Given the description of an element on the screen output the (x, y) to click on. 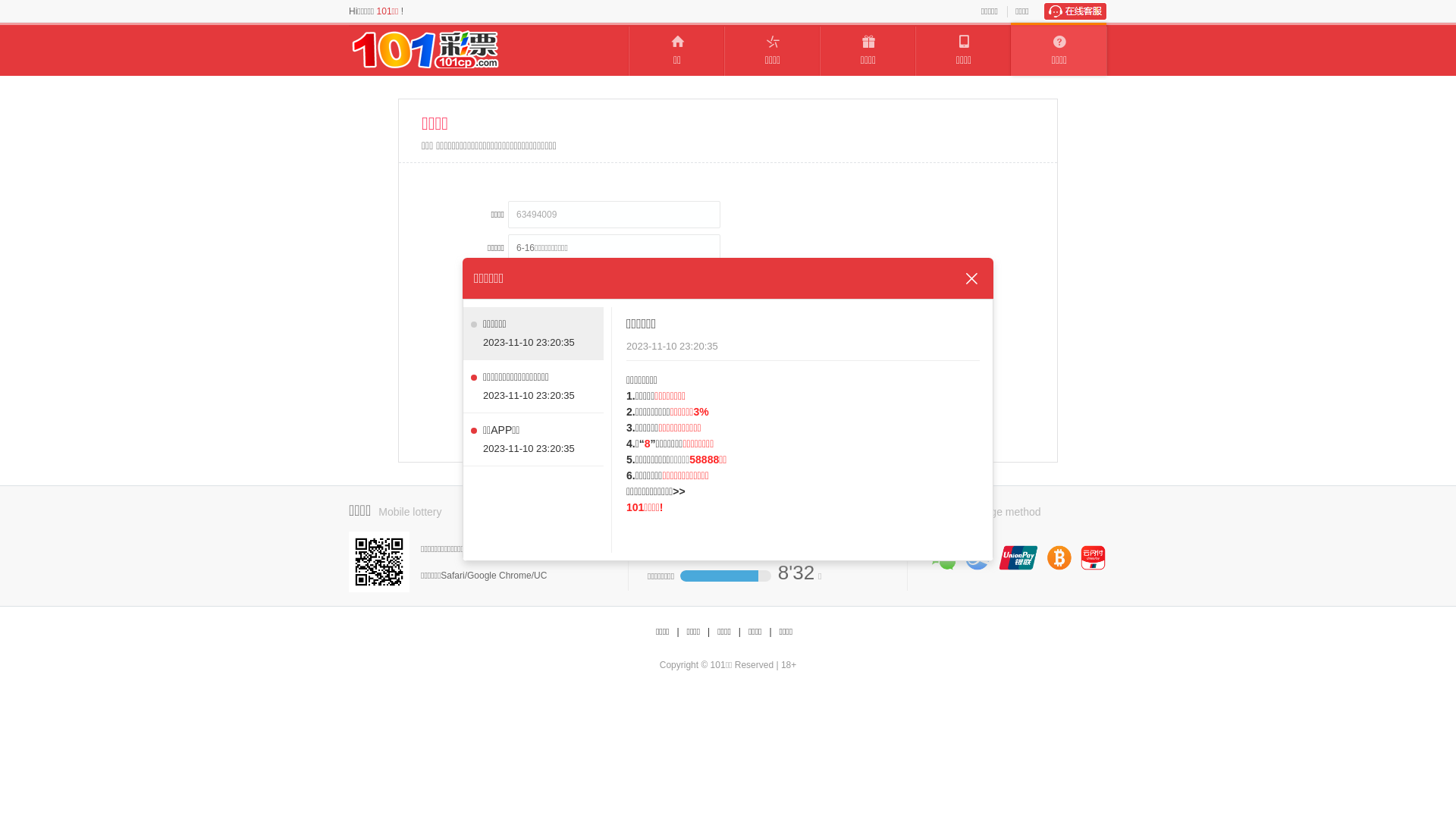
| Element type: text (708, 631)
| Element type: text (769, 631)
| Element type: text (677, 631)
| Element type: text (739, 631)
